Given the description of an element on the screen output the (x, y) to click on. 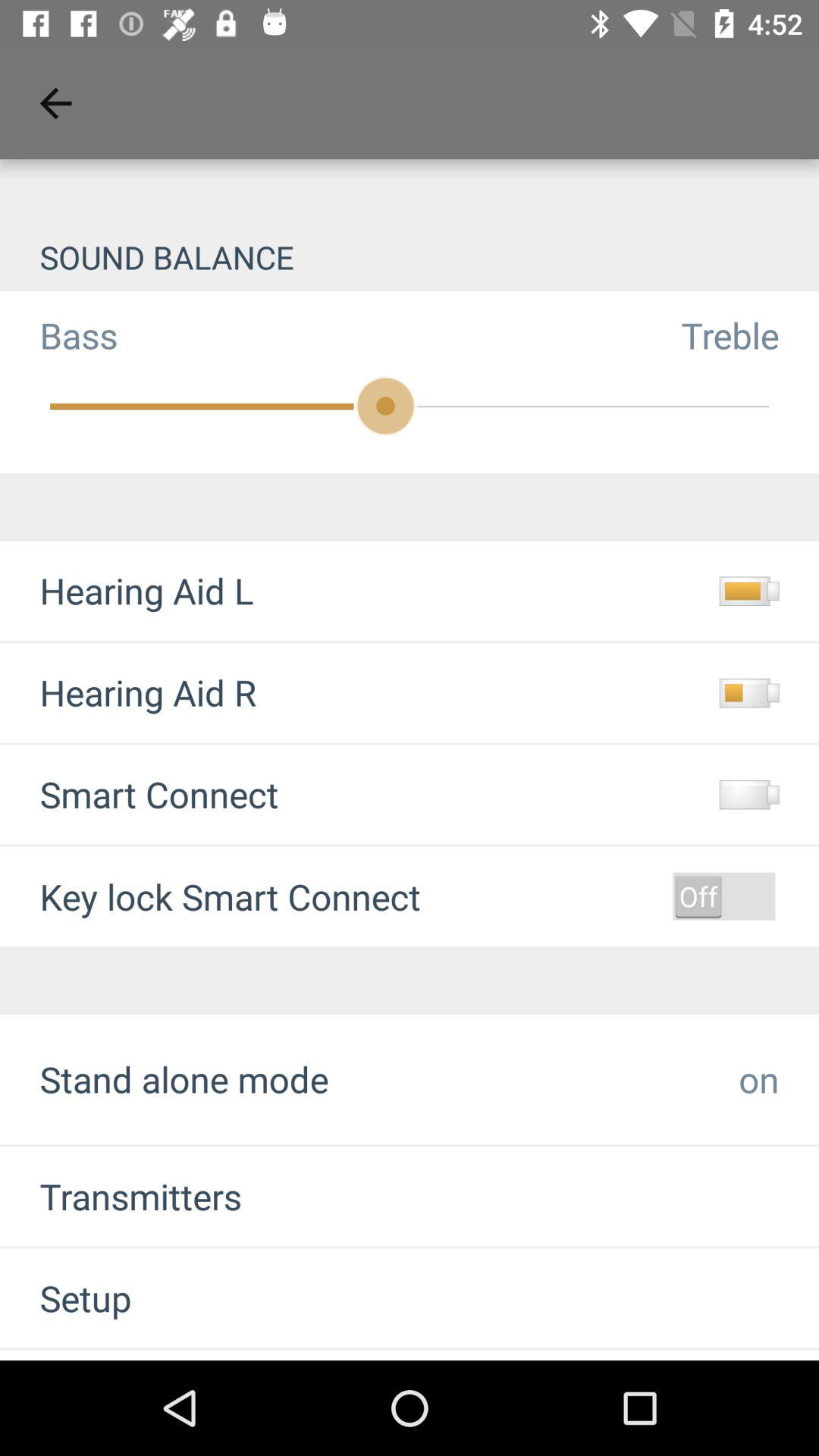
select the third battery symbol from top (749, 794)
click on the off right to key lock smart connect (724, 895)
